Given the description of an element on the screen output the (x, y) to click on. 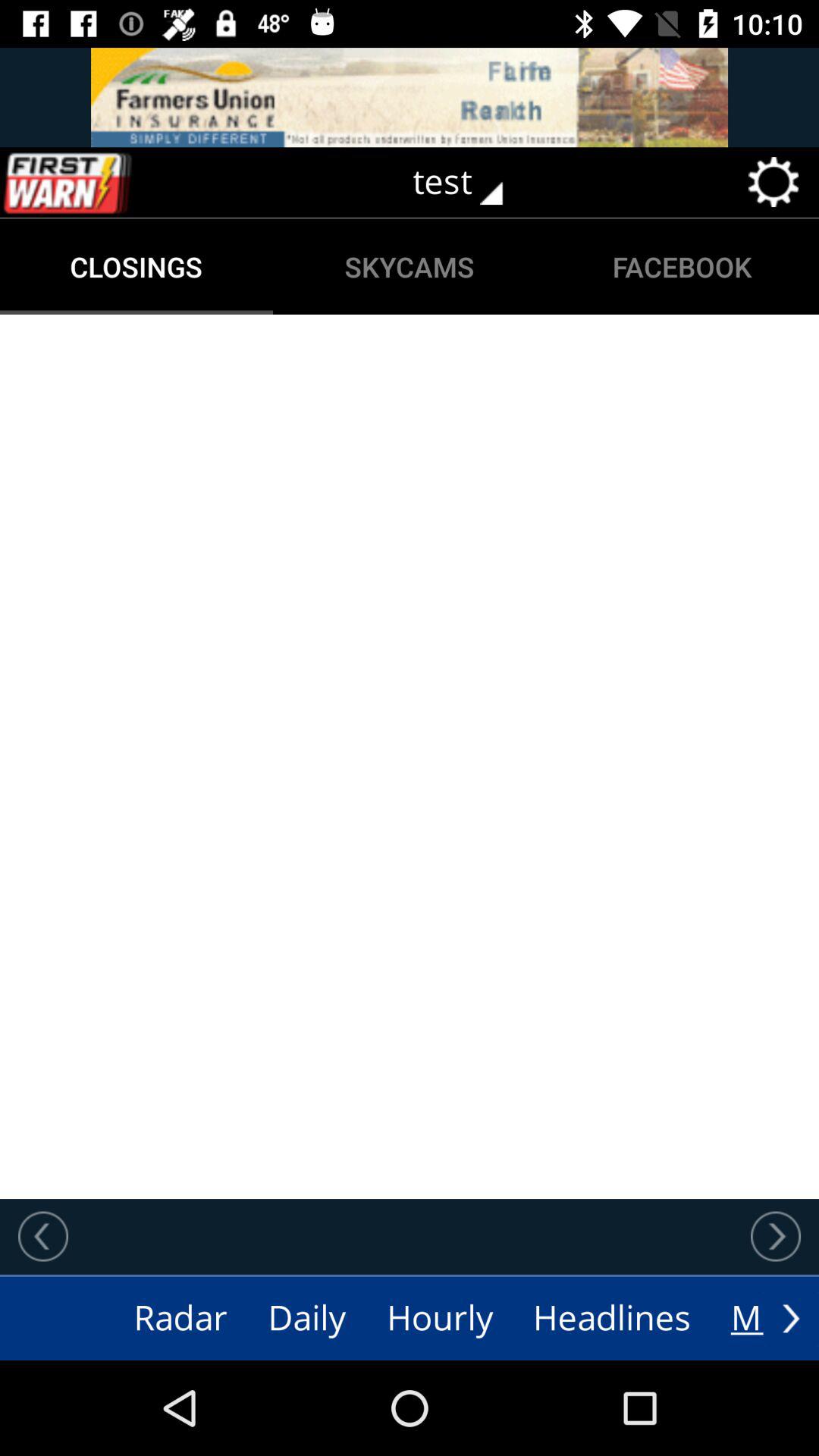
next page (775, 1236)
